Given the description of an element on the screen output the (x, y) to click on. 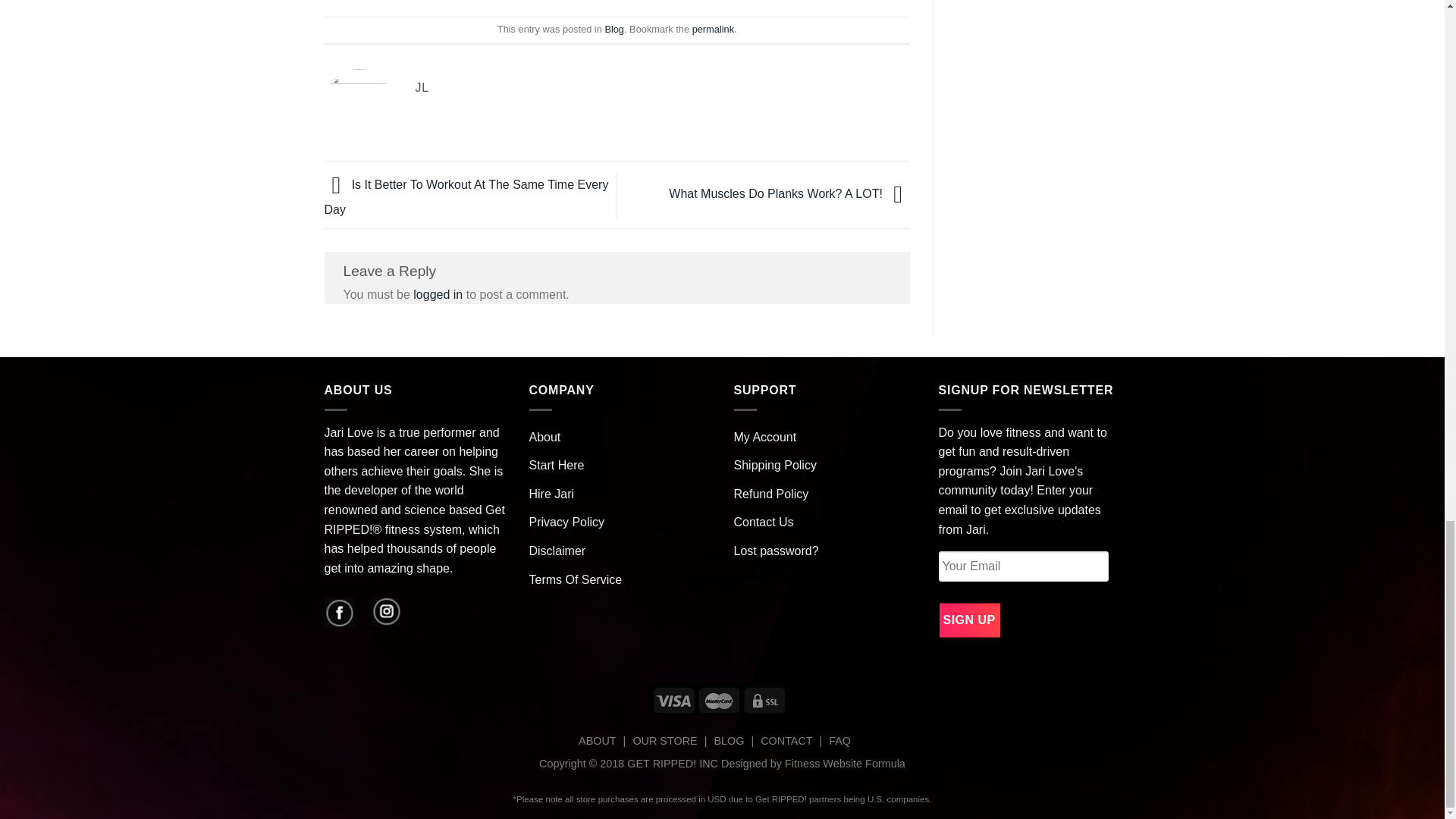
Sign Up (969, 620)
Permalink to If You Have MS, Exercise Can Help (713, 29)
